Given the description of an element on the screen output the (x, y) to click on. 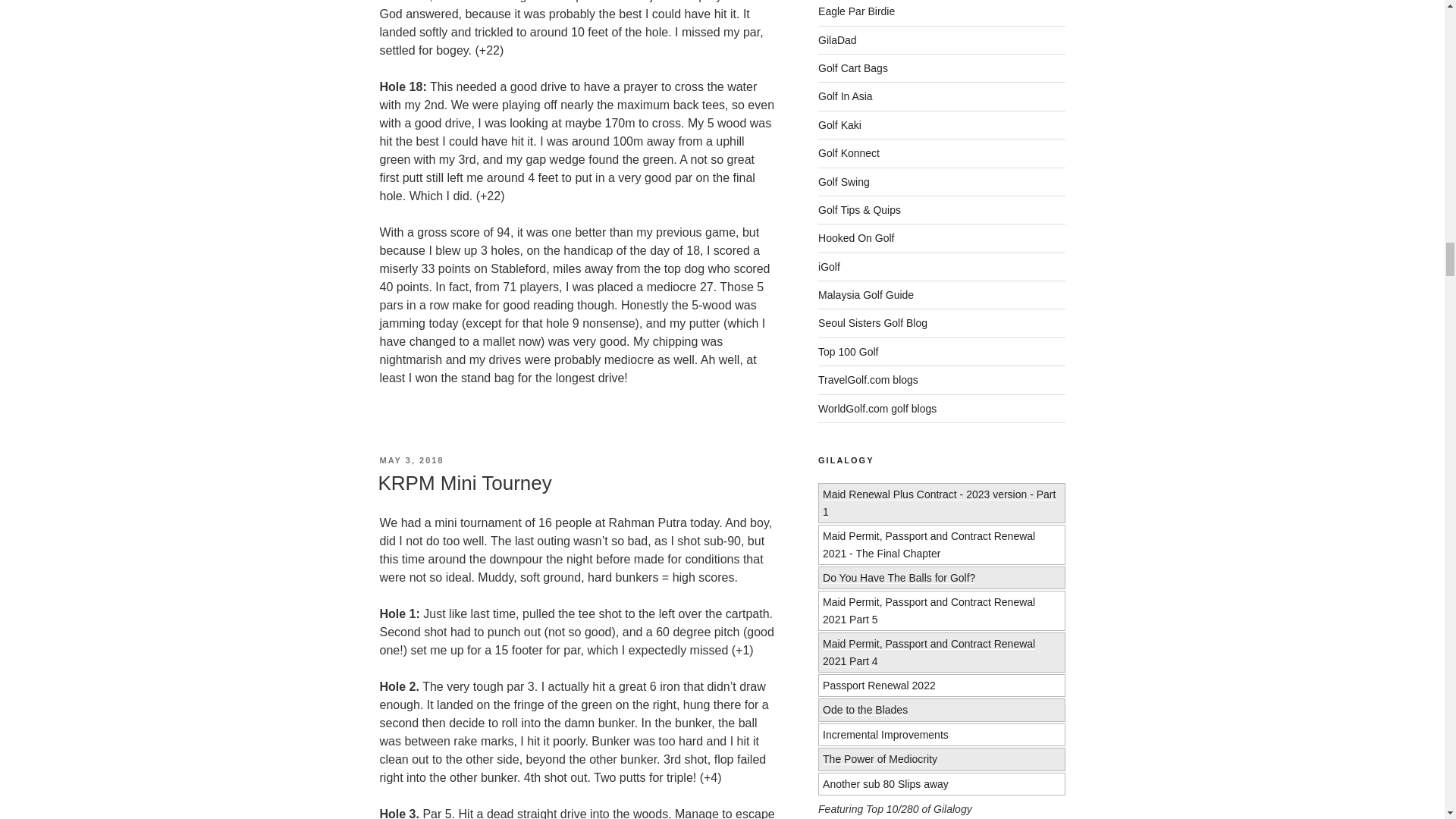
Permalink to: Do You Have The Balls for Golf? (898, 577)
Permalink to: Passport Renewal 2022 (879, 685)
KRPM Mini Tourney (464, 482)
MAY 3, 2018 (411, 460)
Journey of a Rookie Dad (837, 39)
Great blog on all Korean gals! (872, 322)
